Given the description of an element on the screen output the (x, y) to click on. 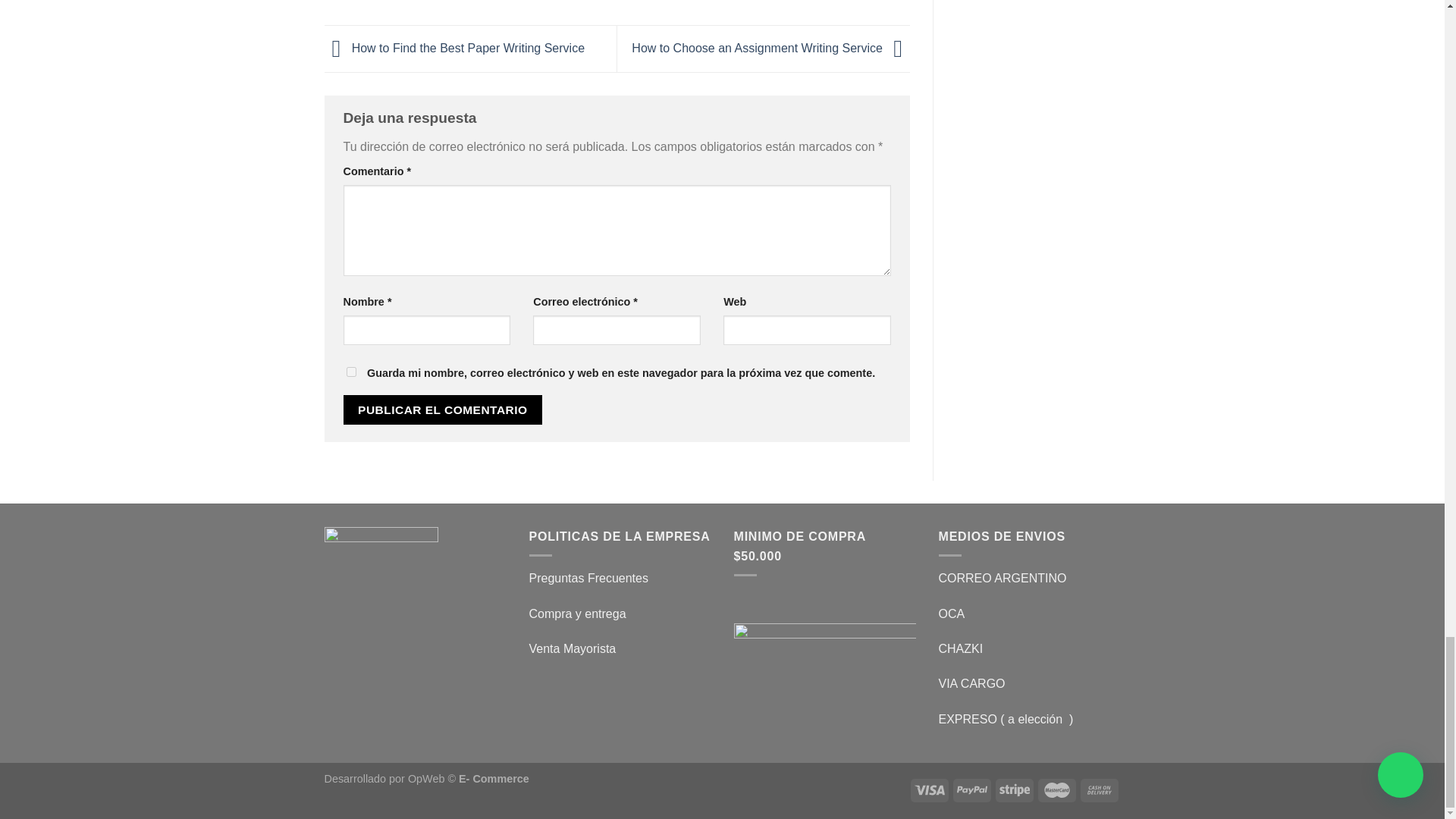
yes (350, 371)
Publicar el comentario (441, 409)
Publicar el comentario (441, 409)
How to Choose an Assignment Writing Service (770, 47)
How to Find the Best Paper Writing Service (454, 47)
